Given the description of an element on the screen output the (x, y) to click on. 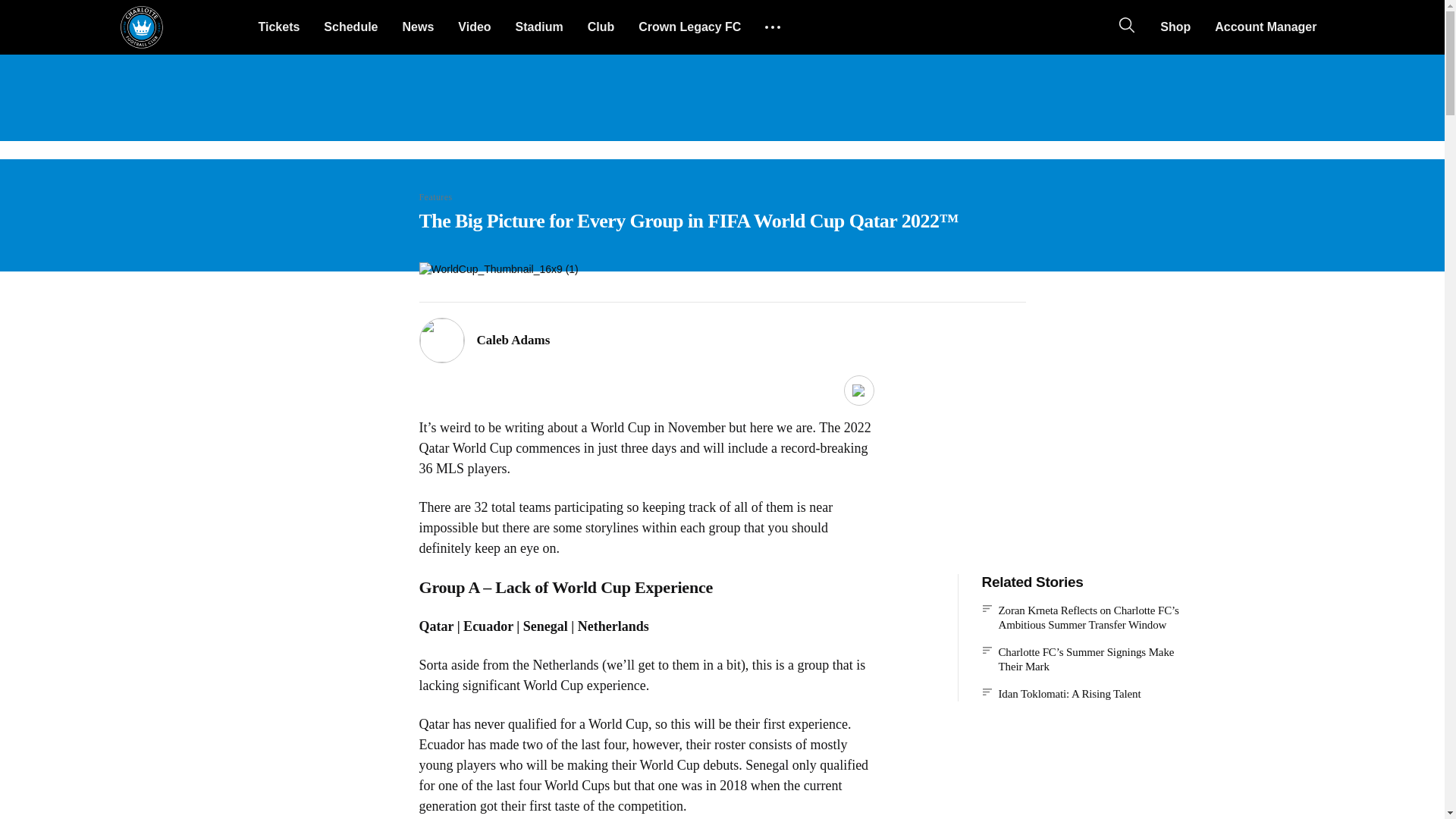
Schedule (350, 26)
News (417, 26)
Club (601, 26)
Tickets (278, 26)
Charlotte FC (141, 27)
Stadium (539, 26)
Crown Legacy FC (689, 26)
Account Manager (1264, 26)
Video (473, 26)
Shop (1175, 26)
